Given the description of an element on the screen output the (x, y) to click on. 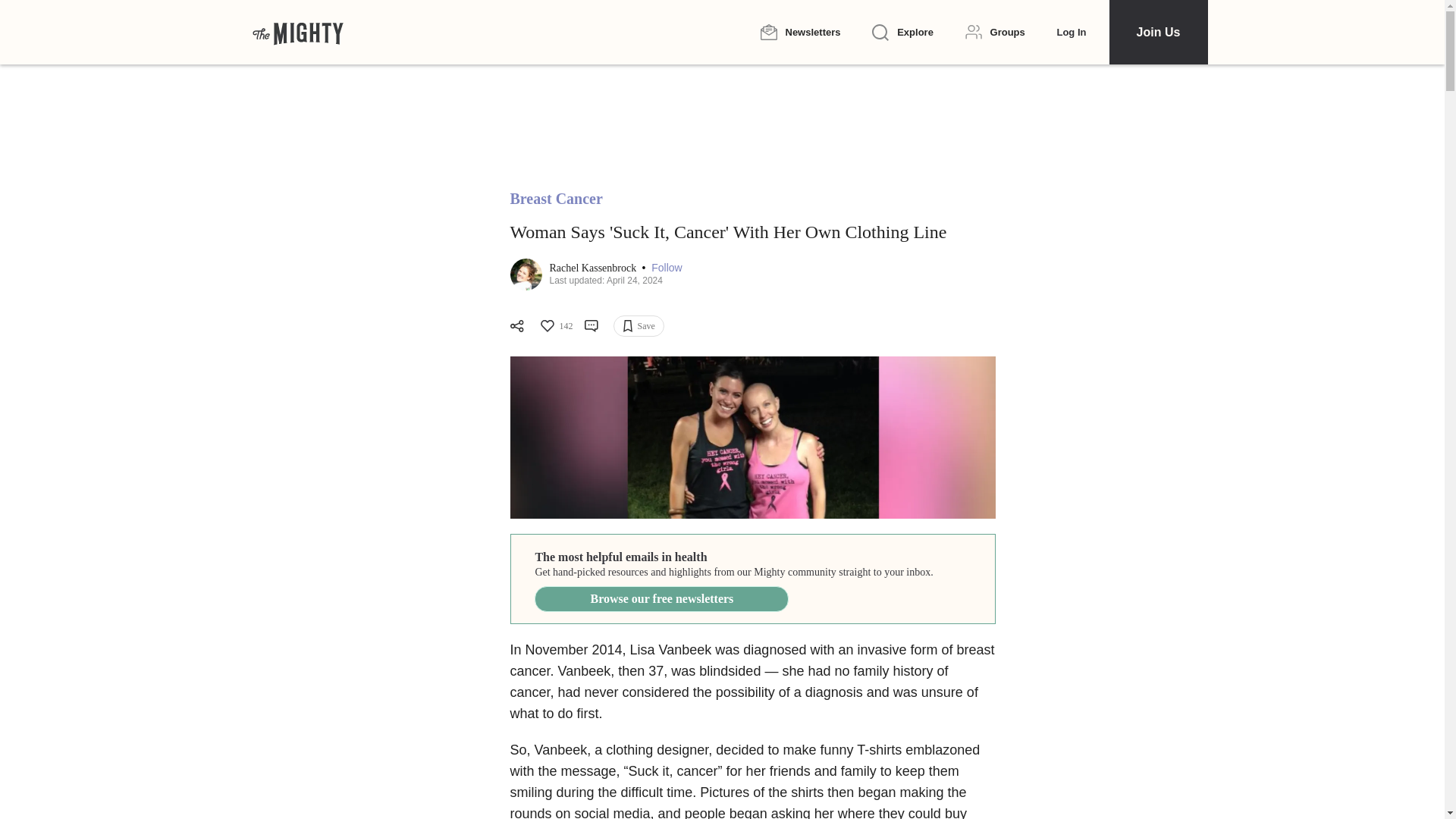
The Mighty (296, 32)
142 (555, 326)
Save (637, 325)
Follow (665, 267)
Browse our free newsletters (661, 598)
Groups (995, 32)
Newsletters (800, 31)
Explore (902, 32)
Breast Cancer (555, 198)
